Given the description of an element on the screen output the (x, y) to click on. 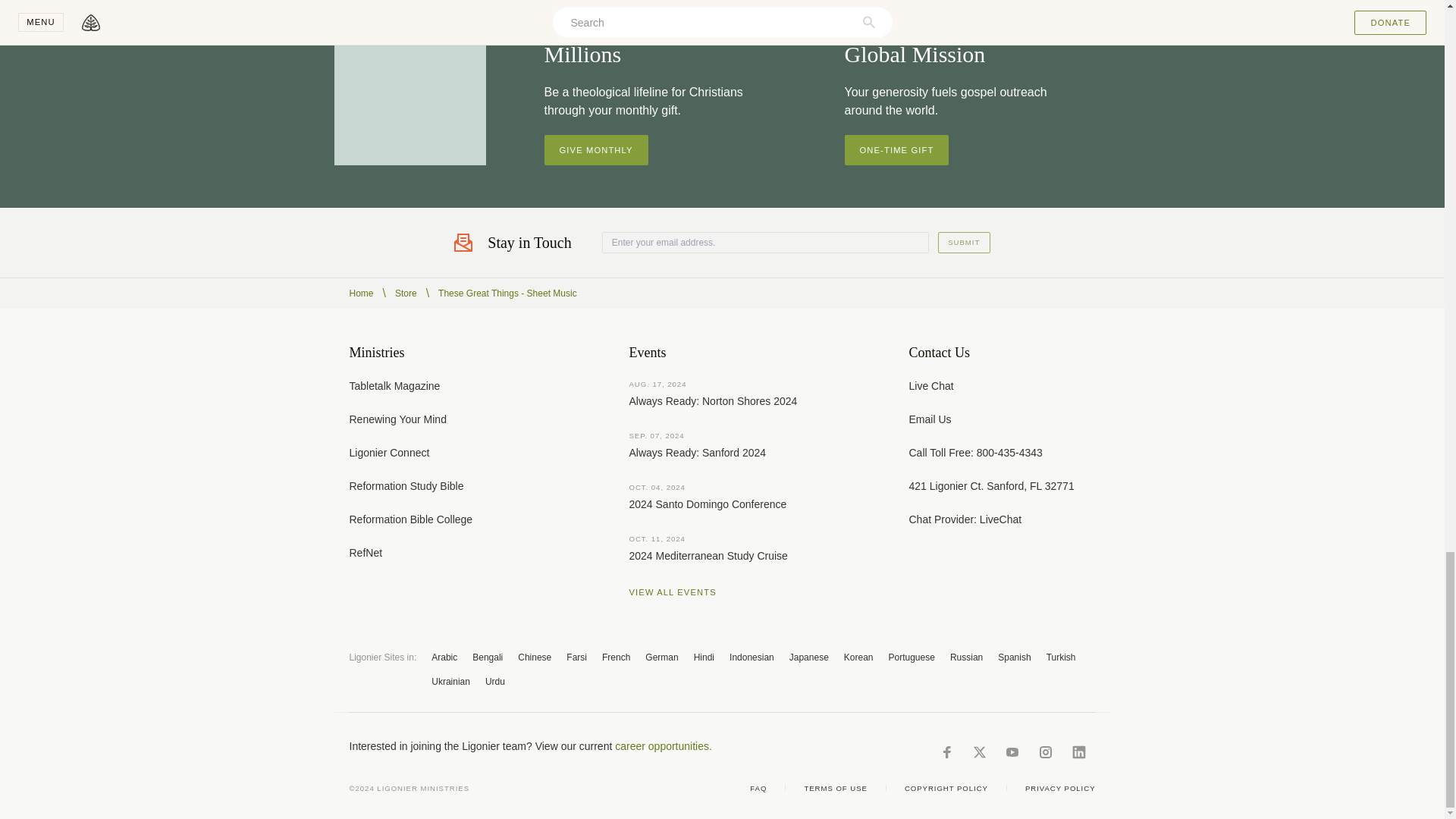
Instagram (1044, 752)
YouTube (1011, 752)
One-Time Gift (896, 150)
Facebook (946, 752)
X (978, 752)
linkedin (1078, 752)
Give Monthly (595, 150)
